Given the description of an element on the screen output the (x, y) to click on. 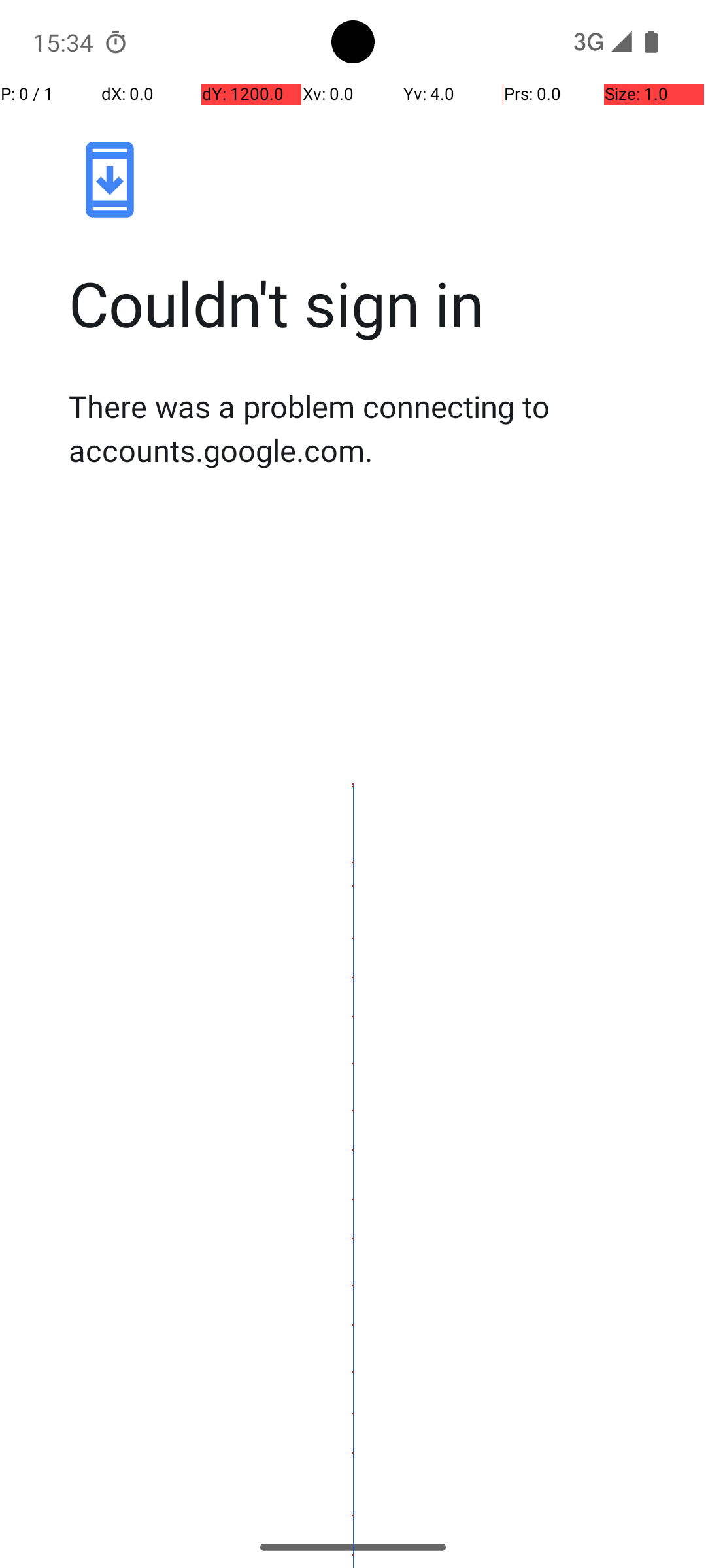
Couldn't sign in Element type: android.widget.TextView (366, 302)
There was a problem connecting to accounts.google.com. Element type: android.widget.TextView (366, 427)
